Given the description of an element on the screen output the (x, y) to click on. 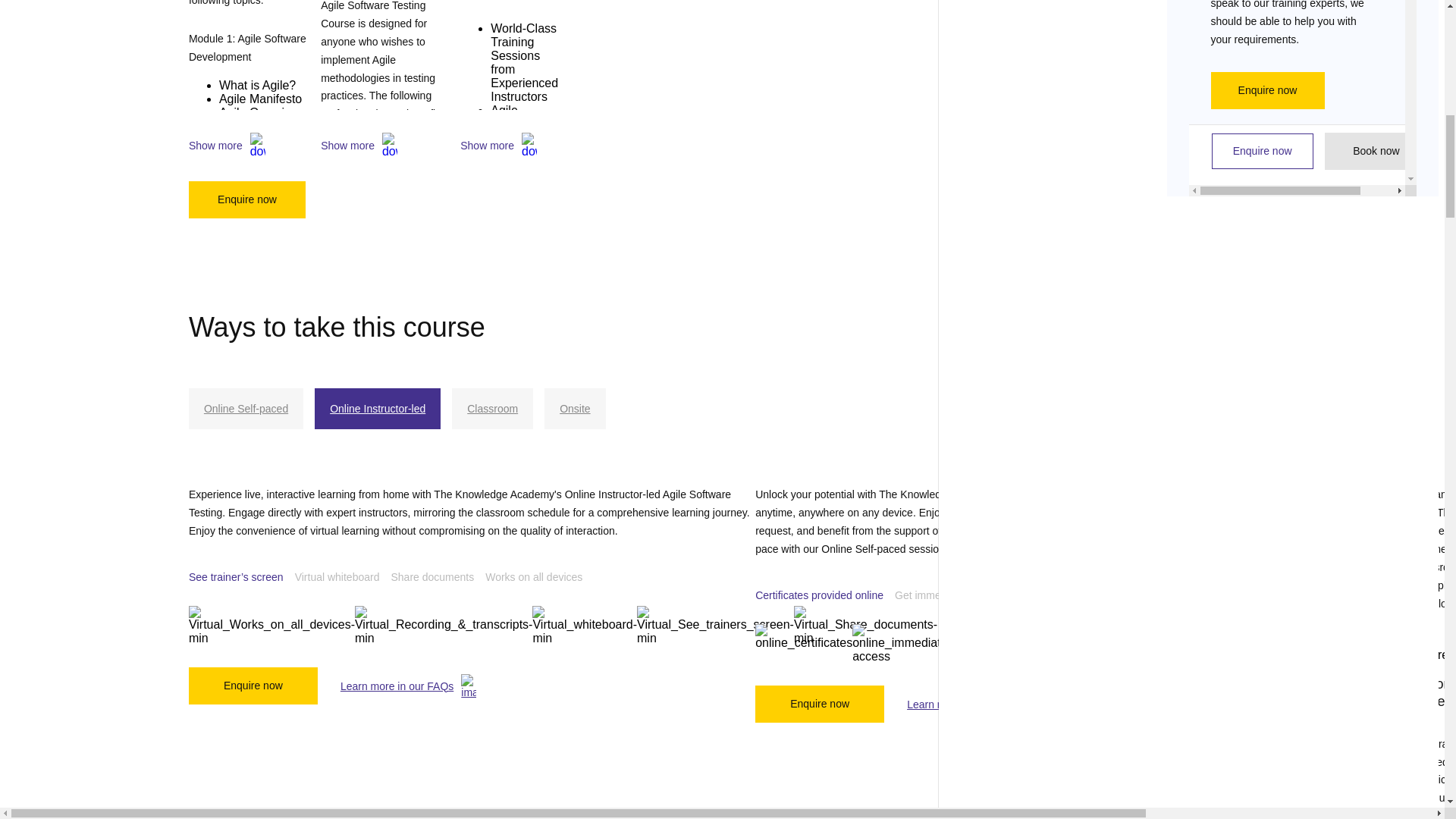
Enquire now (247, 199)
Show more (254, 145)
